Given the description of an element on the screen output the (x, y) to click on. 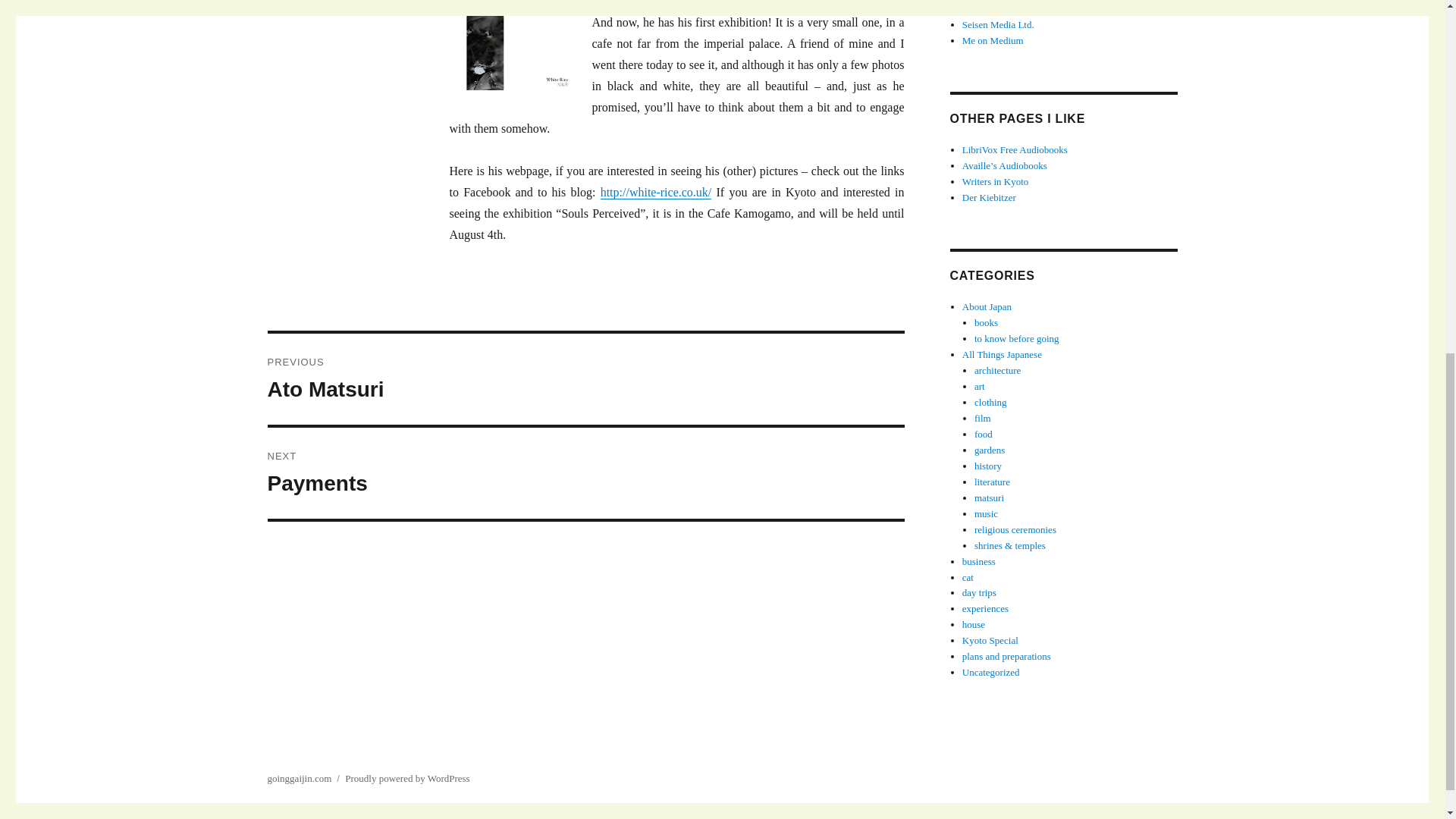
art (979, 386)
Writers in Kyoto (995, 181)
to know before going (1016, 337)
religious ceremonies (1015, 529)
LibriVox Free Audiobooks (1014, 149)
matsuri (989, 497)
business (978, 561)
clothing (990, 401)
history (987, 465)
